Given the description of an element on the screen output the (x, y) to click on. 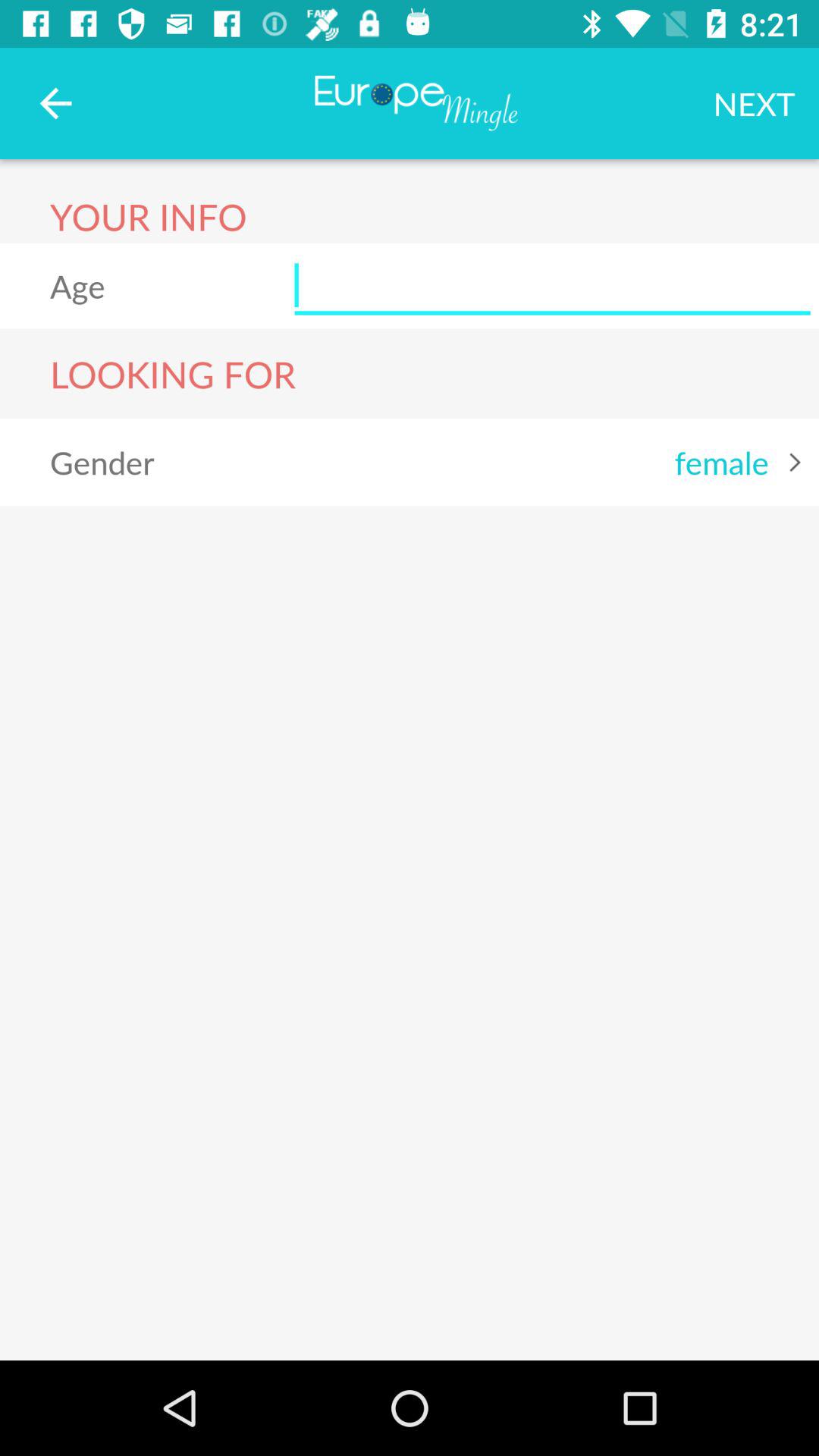
turn off the next icon (754, 103)
